Given the description of an element on the screen output the (x, y) to click on. 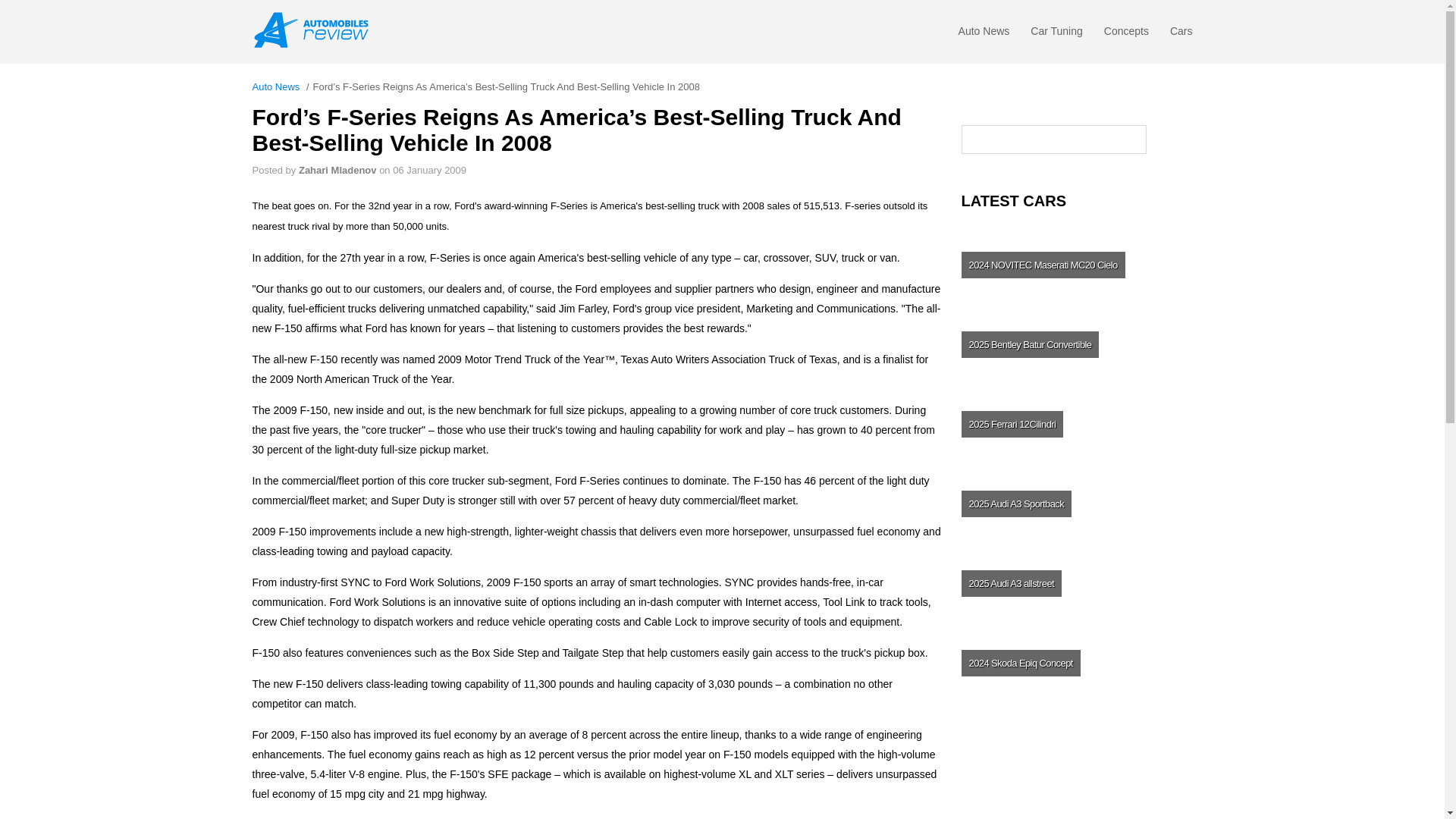
Auto News (984, 35)
Cars (1181, 35)
Concepts (1125, 35)
Concepts (1125, 35)
Skoda Epiq Concept (1074, 662)
Bentley Batur Convertible (1074, 344)
LATEST CARS (1076, 200)
Car Tuning (1055, 35)
NOVITEC Maserati MC20 Cielo (1074, 264)
Auto News (984, 35)
Audi A3 Sportback (1074, 503)
Automobilesreview.com (315, 30)
Car Tuning (1055, 35)
Ferrari 12Cilindri (1074, 423)
Cars (1181, 35)
